Given the description of an element on the screen output the (x, y) to click on. 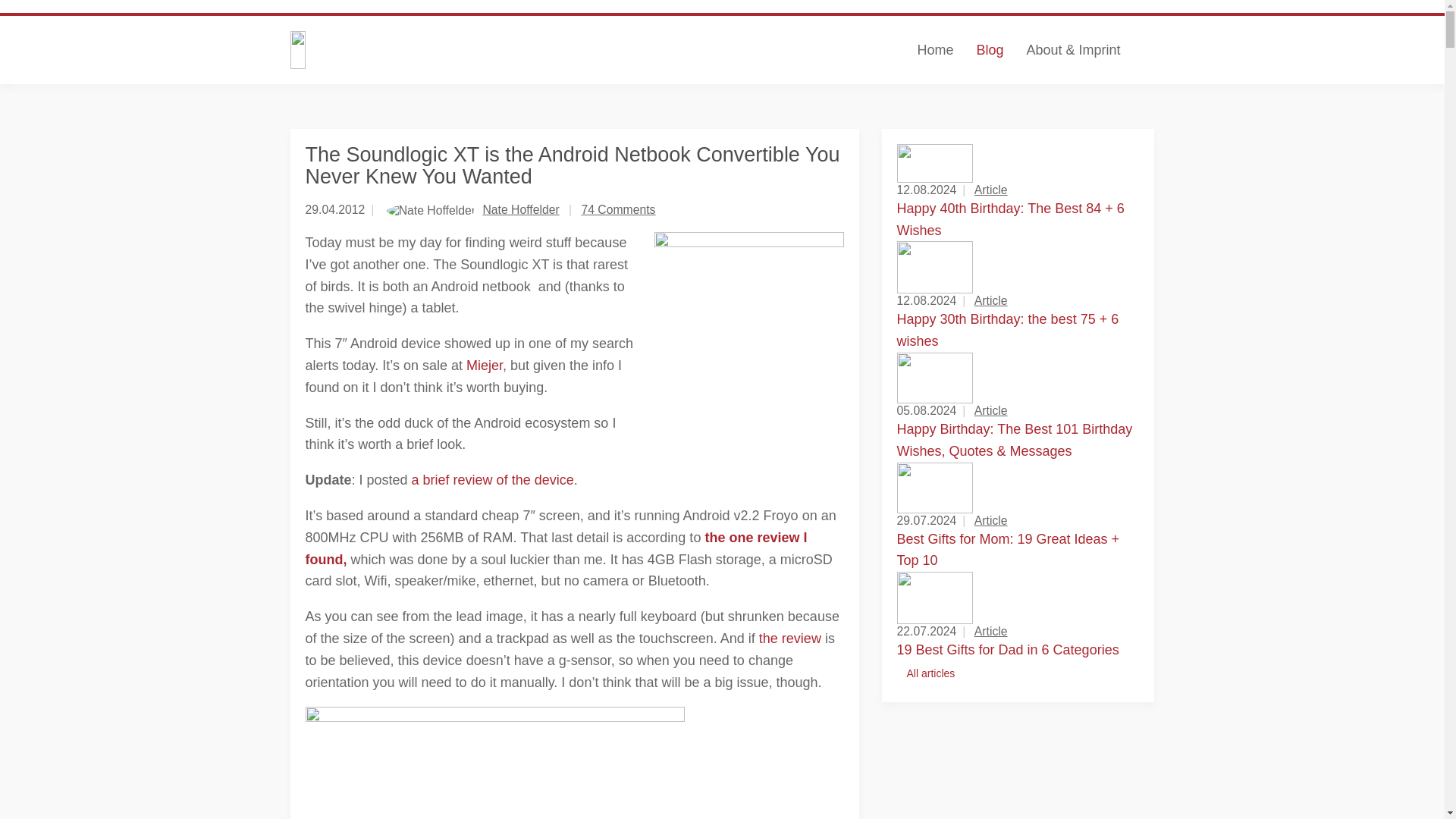
74 Comments (617, 209)
Home (934, 49)
android-swivel-netbook-and-tablet- 1 (748, 326)
Miejer (483, 365)
The Digital Reader (437, 49)
the review (789, 638)
Nate Hoffelder (520, 209)
android-swivel-netbook-and-tablet- 4 (494, 762)
Blog (988, 49)
the one review I found, (555, 548)
